Given the description of an element on the screen output the (x, y) to click on. 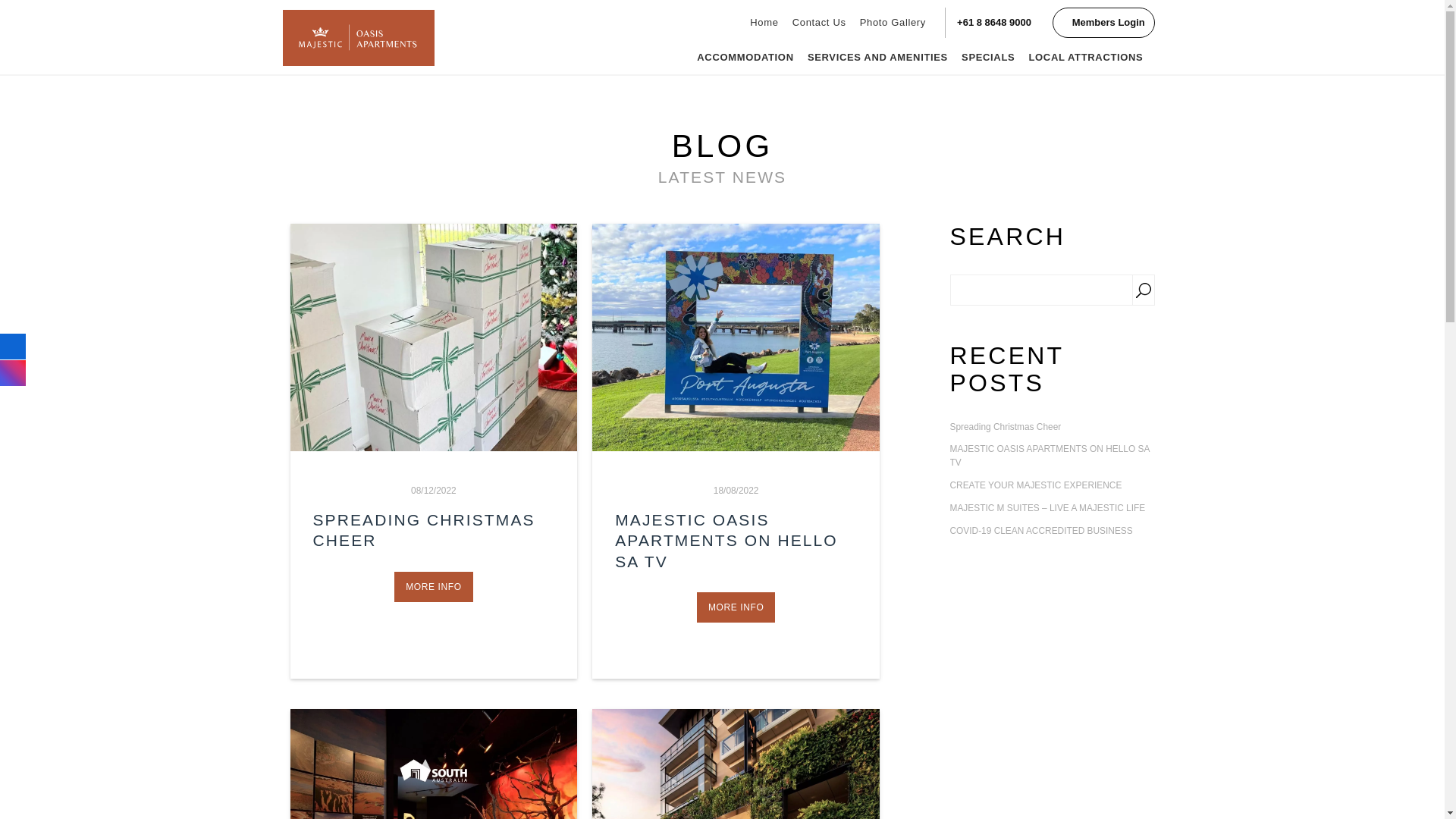
Photo Gallery Element type: text (892, 22)
Spreading Christmas Cheer Element type: text (1051, 427)
ACCOMMODATION Element type: text (745, 57)
MAJESTIC OASIS APARTMENTS ON HELLO SA TV Element type: text (1051, 456)
SERVICES AND AMENITIES Element type: text (877, 57)
LOCAL ATTRACTIONS Element type: text (1085, 57)
MORE INFO Element type: text (735, 607)
08/12/2022 Element type: text (433, 490)
Members Login Element type: text (1103, 22)
Search Element type: text (1142, 289)
  Element type: text (735, 337)
Home Element type: text (763, 22)
COVID-19 CLEAN ACCREDITED BUSINESS Element type: text (1051, 531)
MORE INFO Element type: text (433, 586)
MAJESTIC OASIS APARTMENTS ON HELLO SA TV Element type: text (726, 540)
+61 8 8648 9000 Element type: text (994, 22)
CREATE YOUR MAJESTIC EXPERIENCE Element type: text (1051, 485)
18/08/2022 Element type: text (736, 490)
SPREADING CHRISTMAS CHEER Element type: text (423, 530)
  Element type: text (433, 337)
SPECIALS Element type: text (987, 57)
Contact Us Element type: text (819, 22)
